Given the description of an element on the screen output the (x, y) to click on. 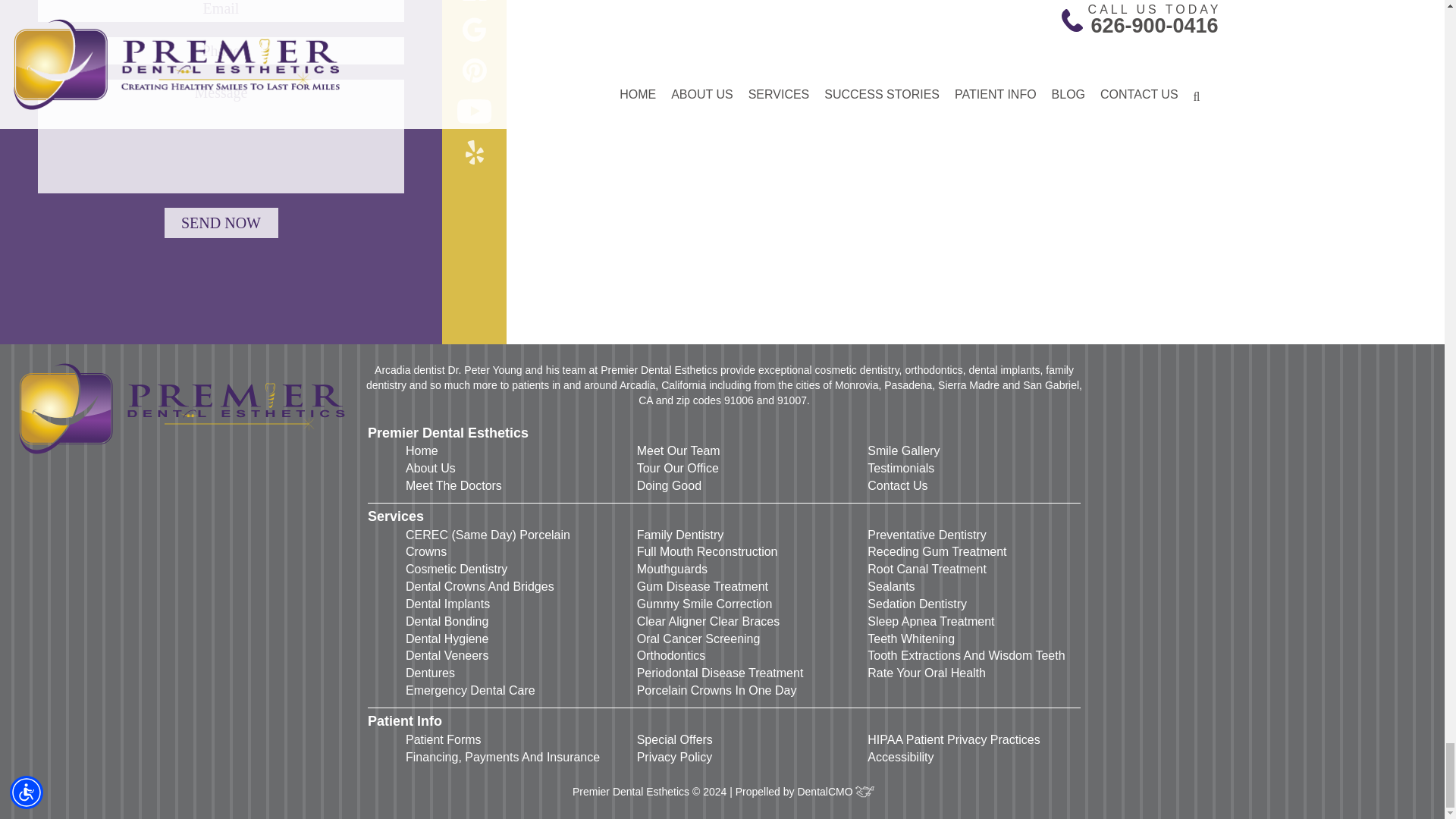
Send Now (220, 223)
